Given the description of an element on the screen output the (x, y) to click on. 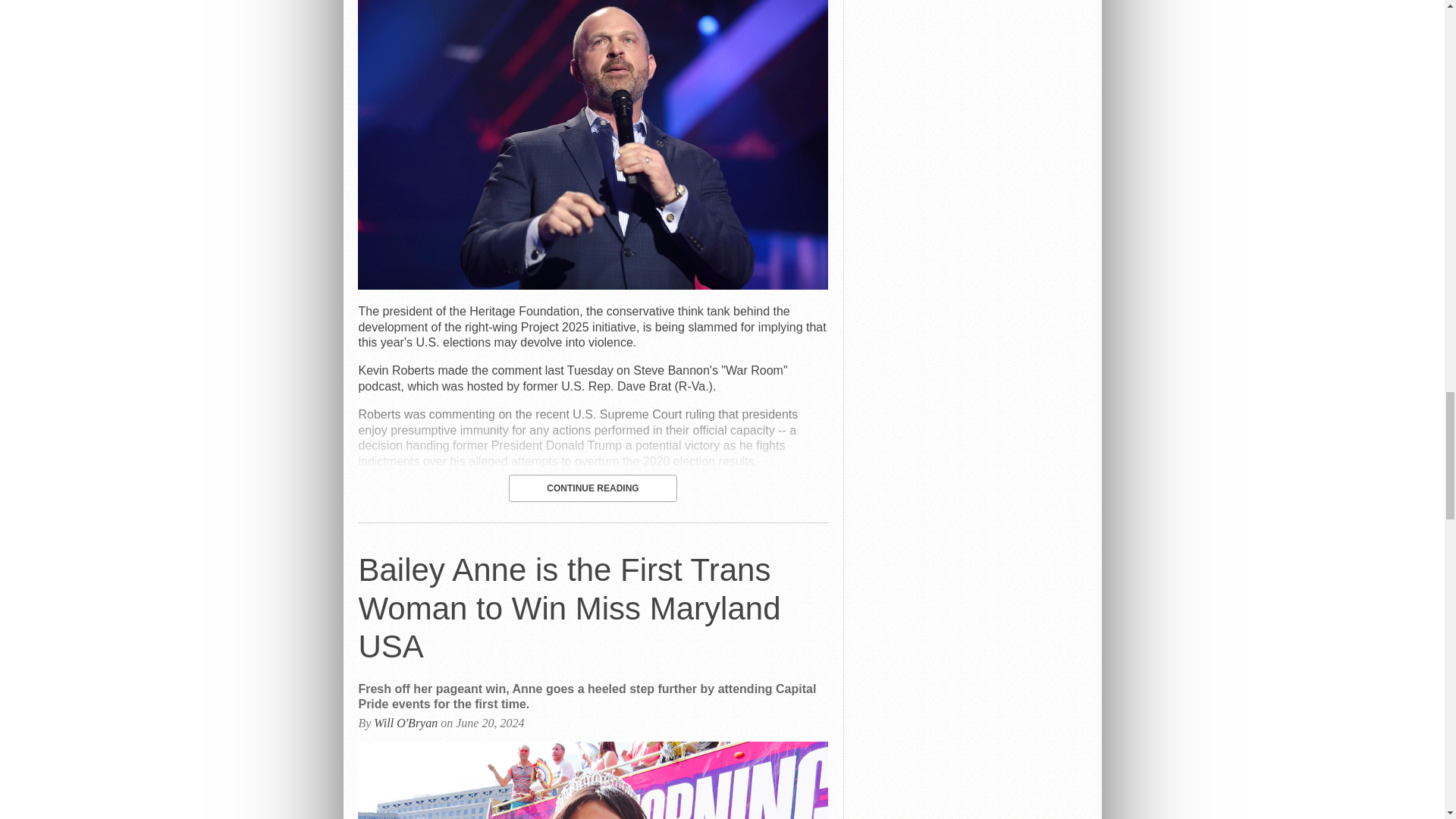
Posts by Will O'Bryan (406, 722)
Project 2025 Leader Alludes to Political Violence (592, 285)
